Given the description of an element on the screen output the (x, y) to click on. 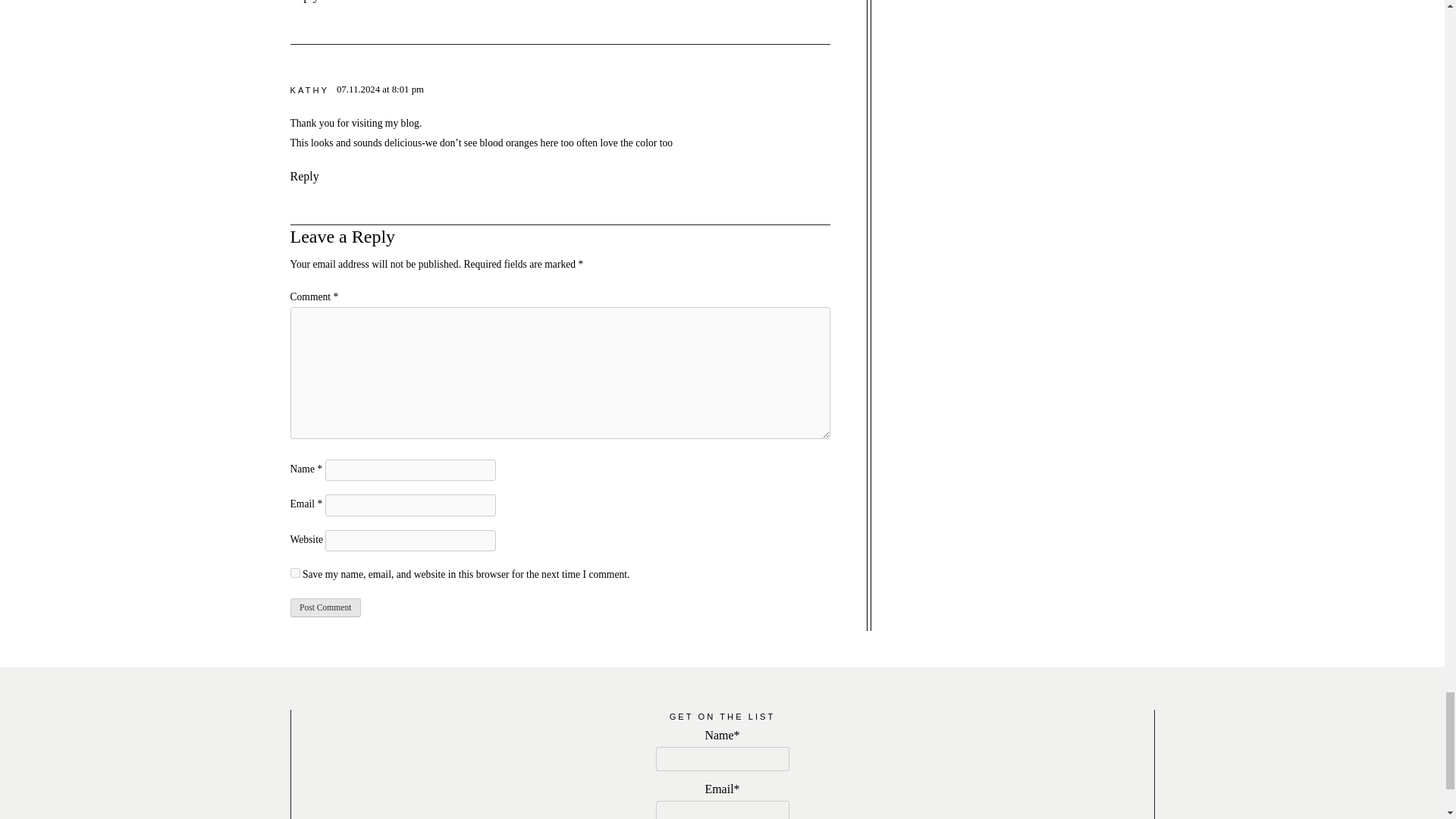
yes (294, 573)
Post Comment (324, 607)
